Given the description of an element on the screen output the (x, y) to click on. 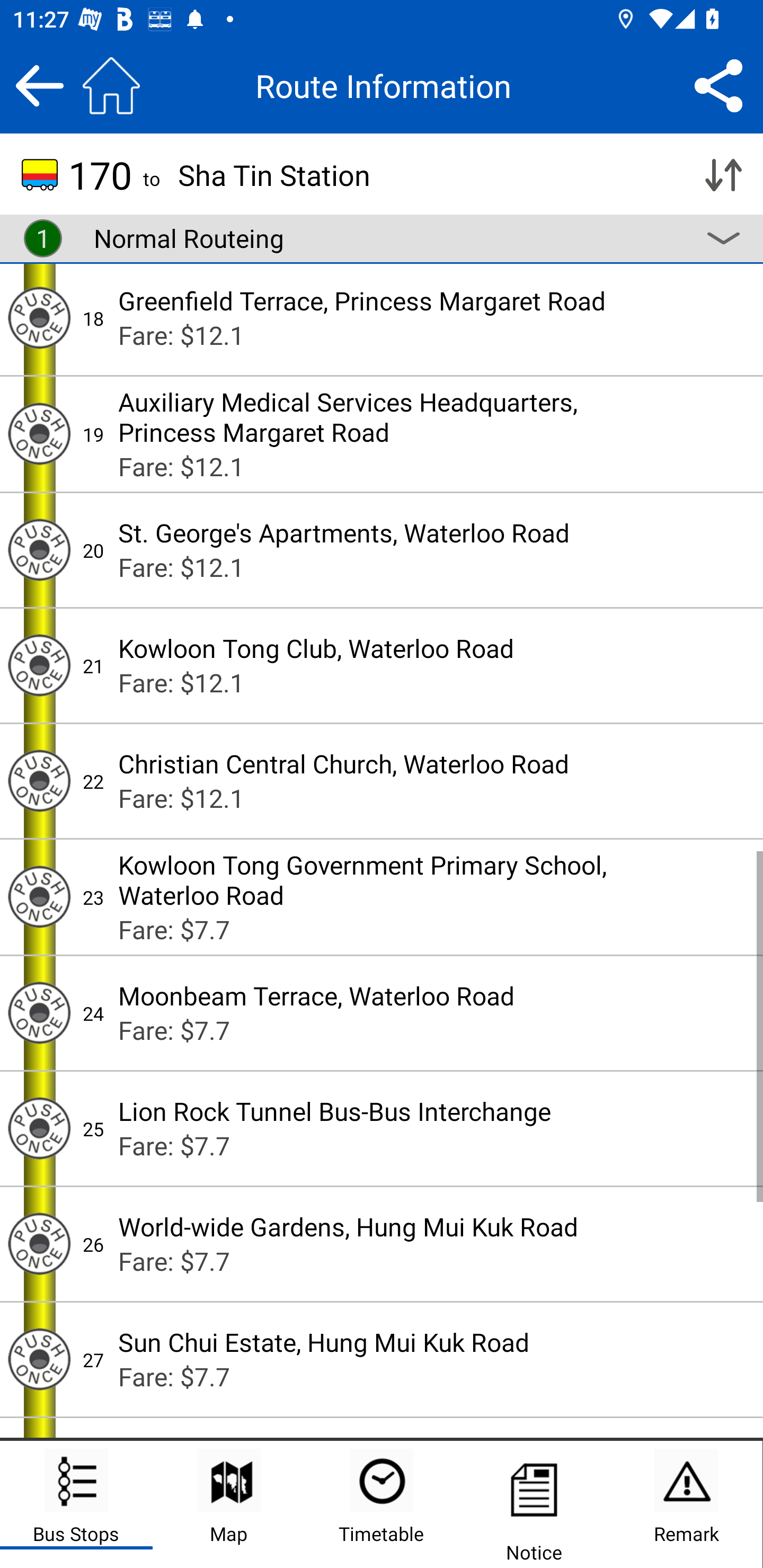
Jump to home page (111, 85)
Share point to point route search criteria) (718, 85)
Back (39, 85)
Reverse direction (723, 174)
Other routes (723, 238)
Alight Reminder (39, 317)
Alight Reminder (39, 433)
Alight Reminder (39, 549)
Alight Reminder (39, 665)
Alight Reminder (39, 780)
Alight Reminder (39, 896)
Alight Reminder (39, 1012)
Alight Reminder (39, 1128)
Alight Reminder (39, 1244)
Alight Reminder (39, 1359)
Bus Stops (76, 1504)
Map (228, 1504)
Timetable (381, 1504)
Notice (533, 1504)
Remark (686, 1504)
